Given the description of an element on the screen output the (x, y) to click on. 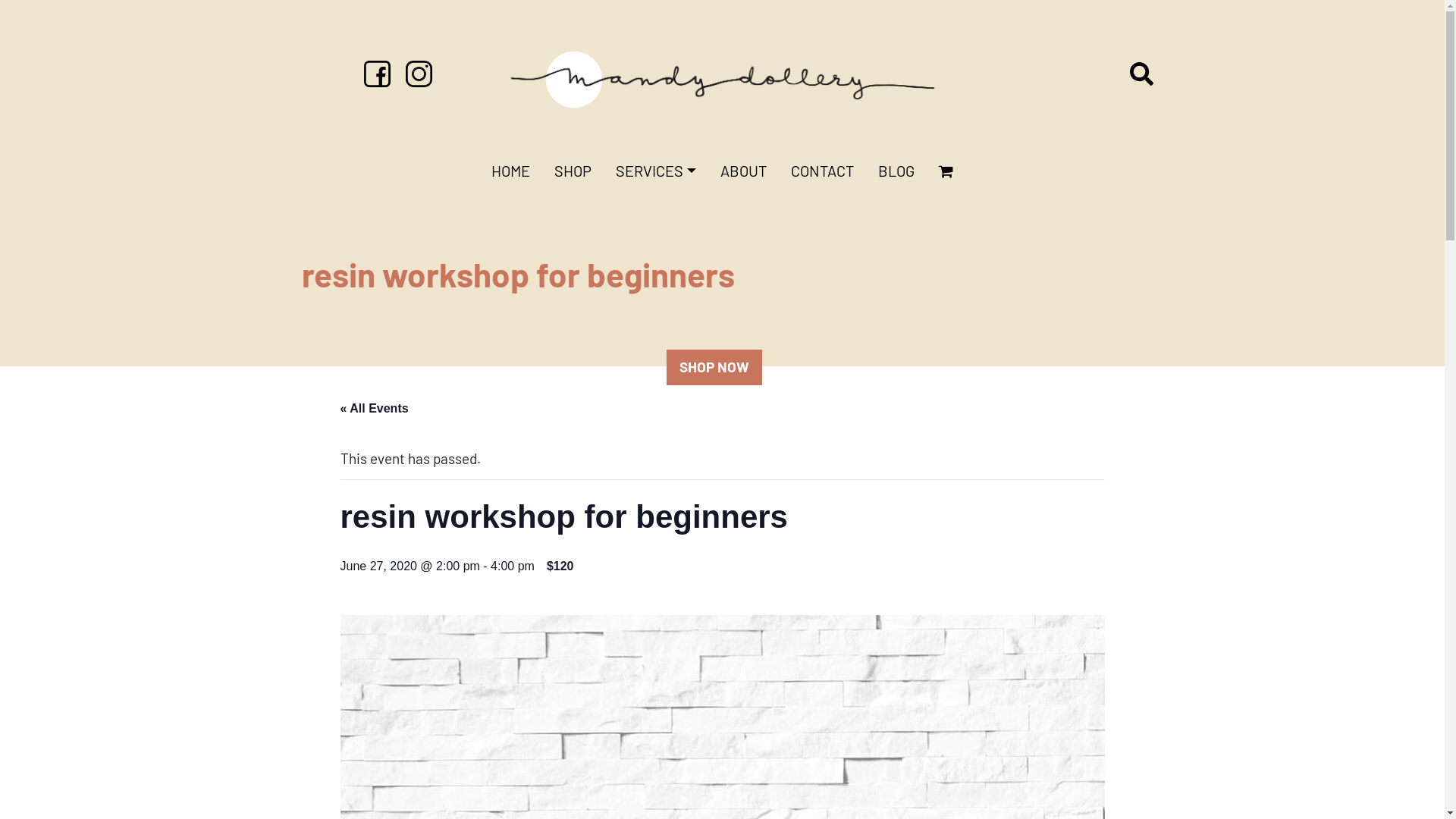
HOME Element type: text (510, 170)
Facebook Element type: text (376, 71)
SERVICES Element type: text (655, 170)
SHOP NOW Element type: text (714, 367)
SHOP Element type: text (572, 170)
Search Element type: text (15, 13)
CONTACT Element type: text (822, 170)
Instagram Element type: text (418, 71)
BLOG Element type: text (896, 170)
ABOUT Element type: text (743, 170)
